Given the description of an element on the screen output the (x, y) to click on. 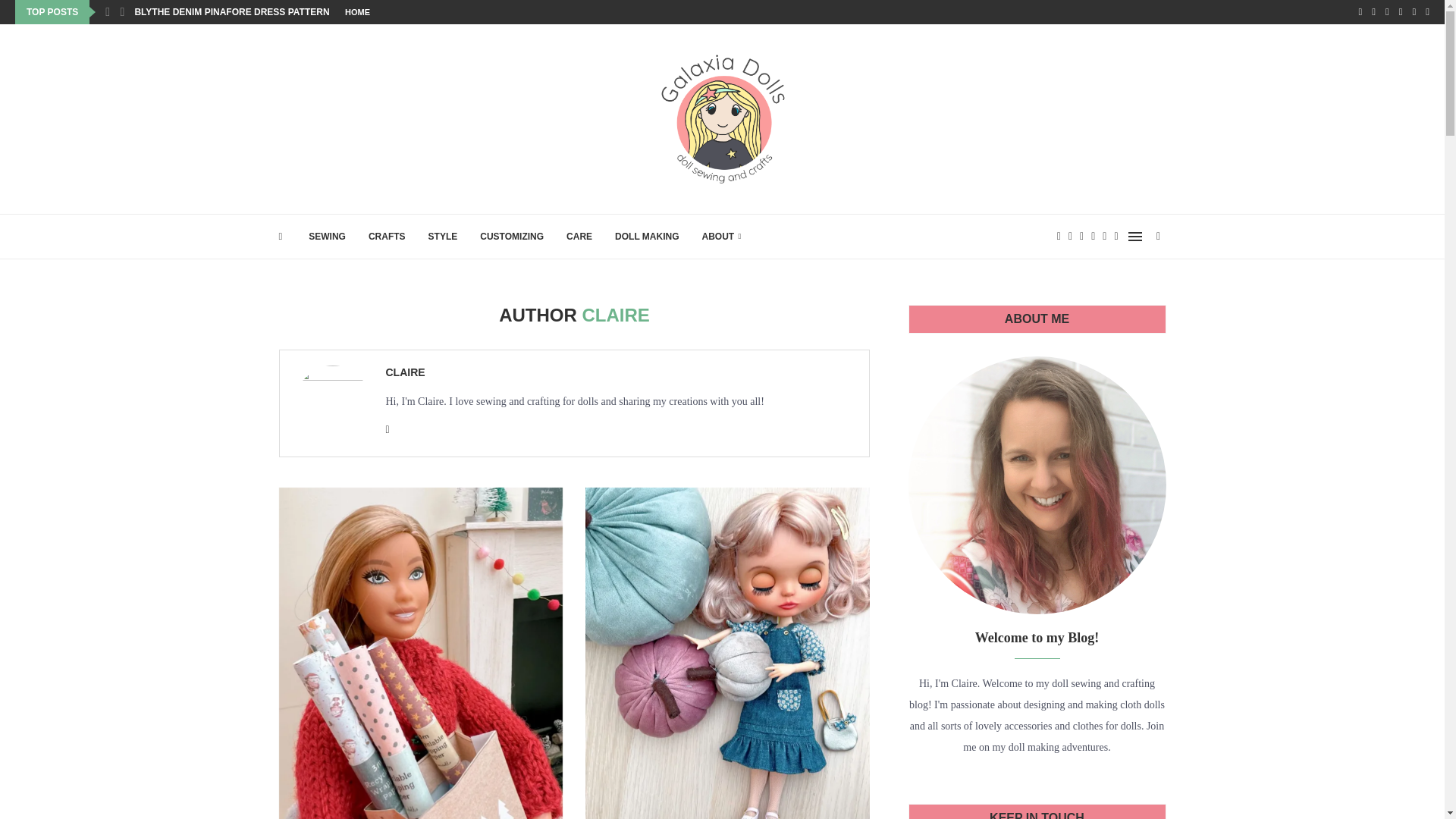
BLYTHE DENIM PINAFORE DRESS PATTERN (231, 12)
CUSTOMIZING (511, 236)
HOME (357, 12)
ABOUT (721, 236)
DOLL MAKING (646, 236)
Author Claire (405, 372)
